Given the description of an element on the screen output the (x, y) to click on. 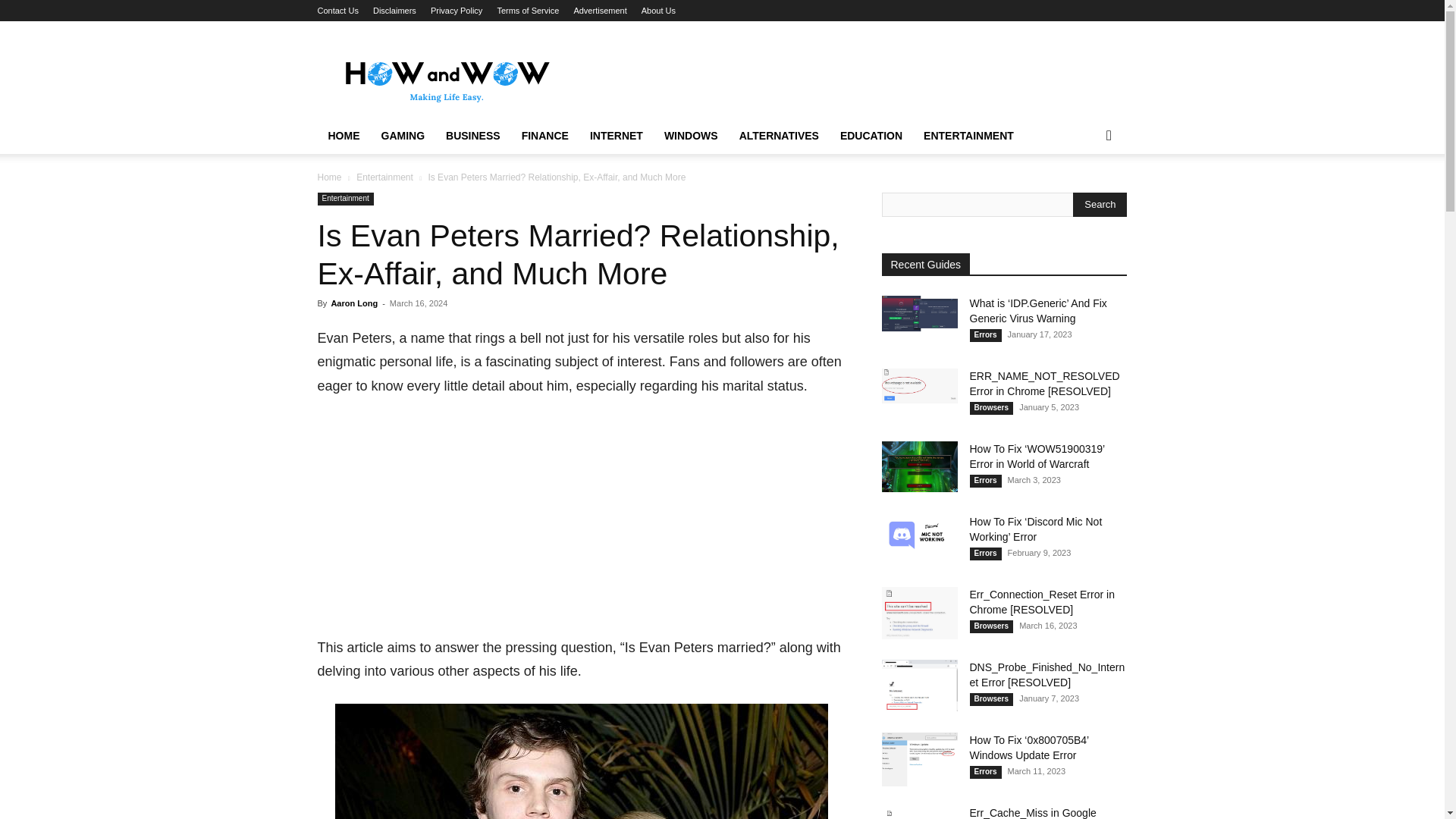
Advertisement (580, 523)
Advertisement (850, 76)
Terms of Service (527, 10)
WINDOWS (691, 135)
Contact Us (337, 10)
View all posts in Entertainment (384, 176)
BUSINESS (473, 135)
Entertainment (384, 176)
About Us (658, 10)
Disclaimers (394, 10)
EDUCATION (870, 135)
Entertainment (344, 198)
FINANCE (545, 135)
Privacy Policy (455, 10)
HOME (343, 135)
